Given the description of an element on the screen output the (x, y) to click on. 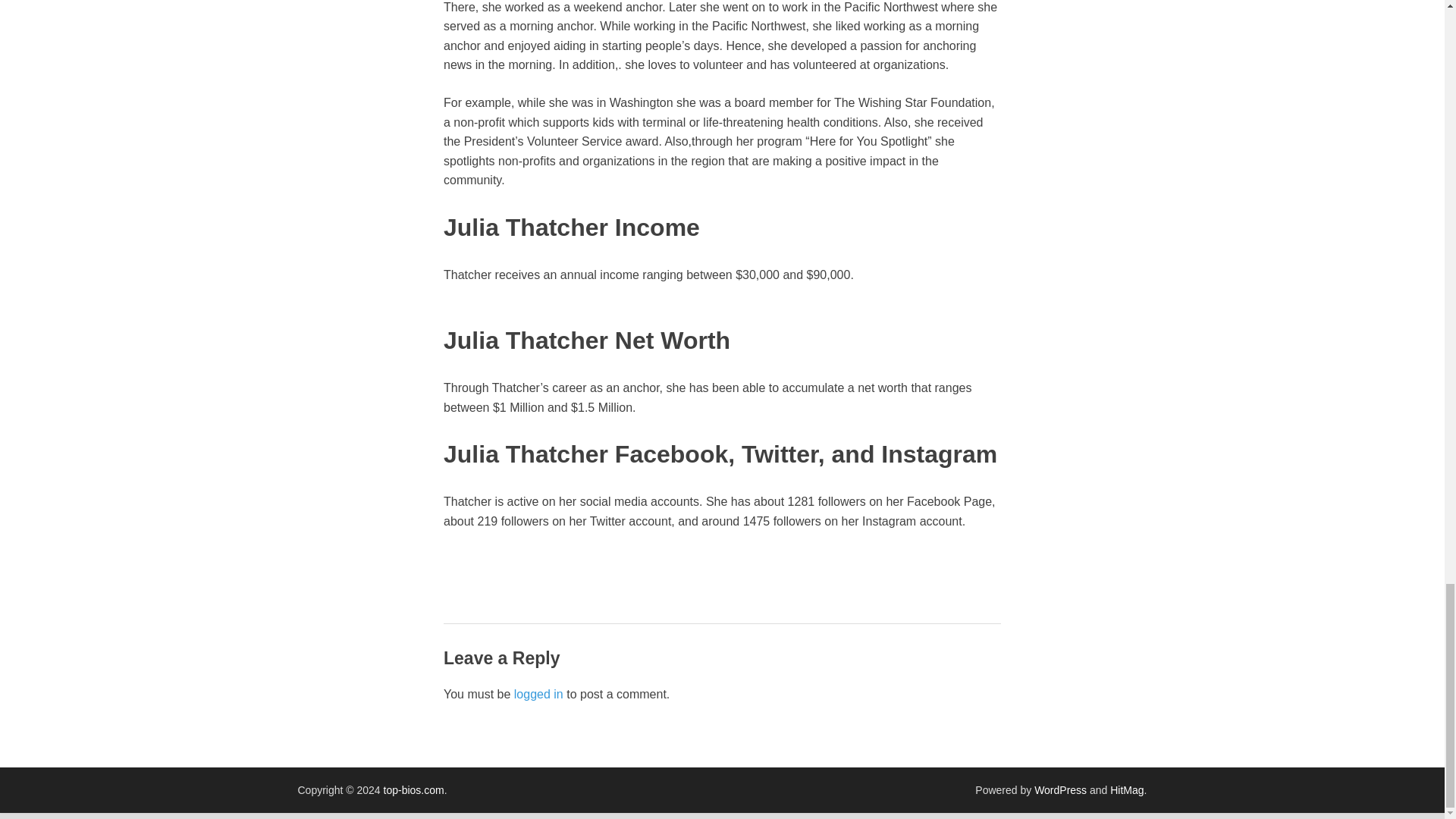
WordPress (1059, 789)
HitMag WordPress Theme (1125, 789)
HitMag (1125, 789)
top-bios.com (414, 789)
top-bios.com (414, 789)
logged in (538, 694)
WordPress (1059, 789)
